Given the description of an element on the screen output the (x, y) to click on. 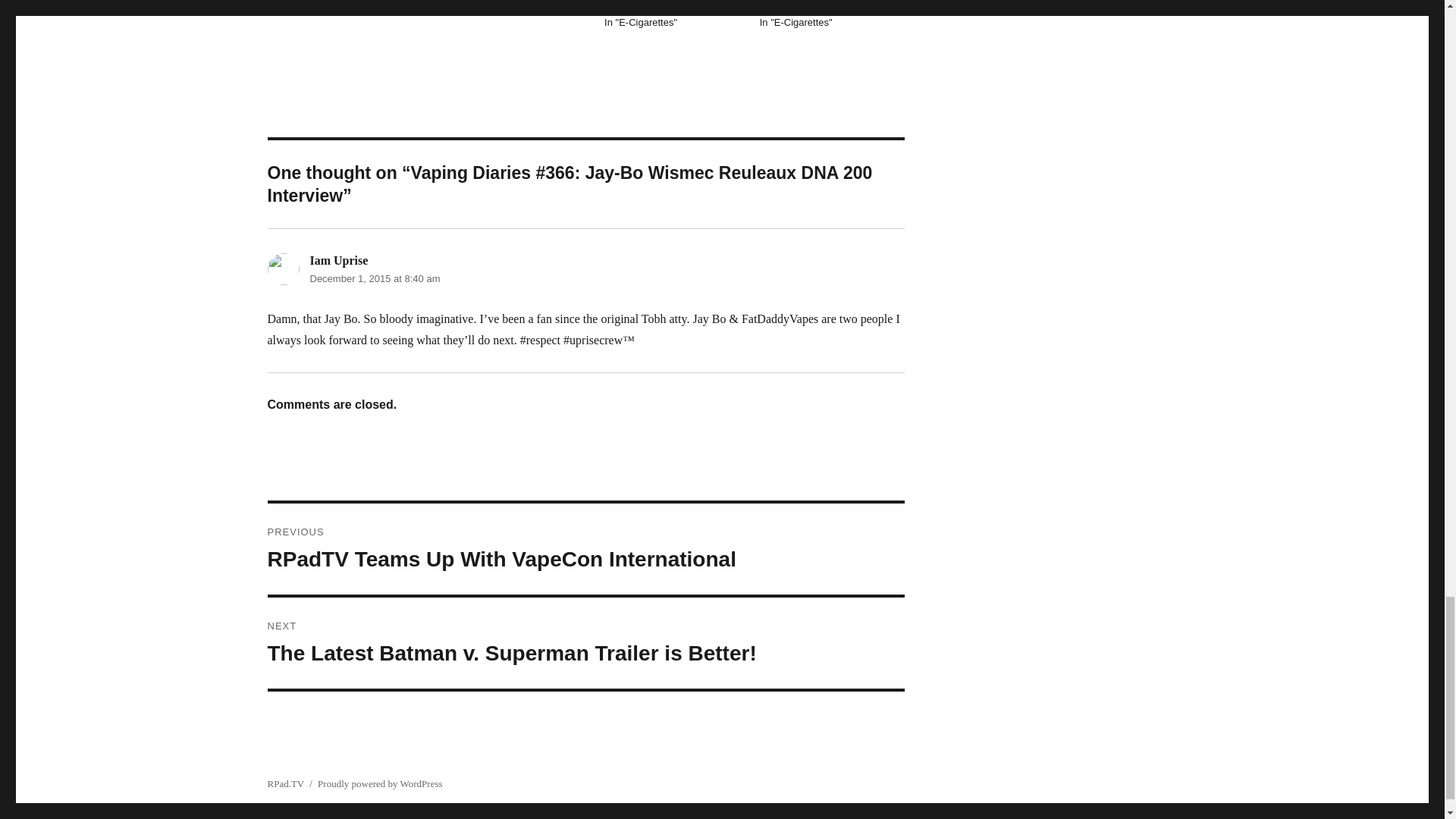
December 1, 2015 at 8:40 am (373, 278)
